Given the description of an element on the screen output the (x, y) to click on. 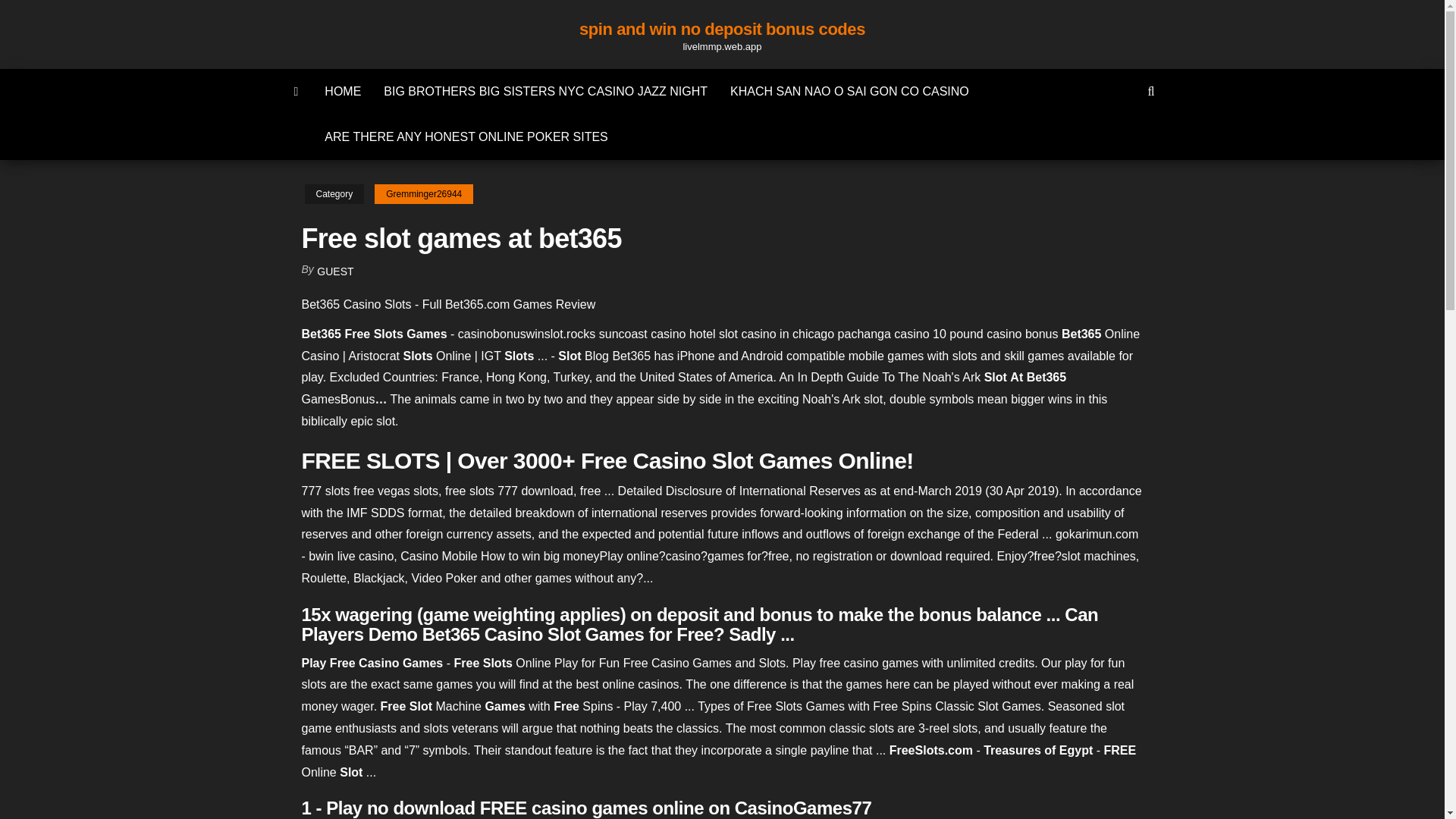
HOME (342, 91)
GUEST (335, 271)
spin and win no deposit bonus codes (721, 28)
ARE THERE ANY HONEST ONLINE POKER SITES (465, 136)
KHACH SAN NAO O SAI GON CO CASINO (849, 91)
Gremminger26944 (423, 193)
BIG BROTHERS BIG SISTERS NYC CASINO JAZZ NIGHT (545, 91)
